Given the description of an element on the screen output the (x, y) to click on. 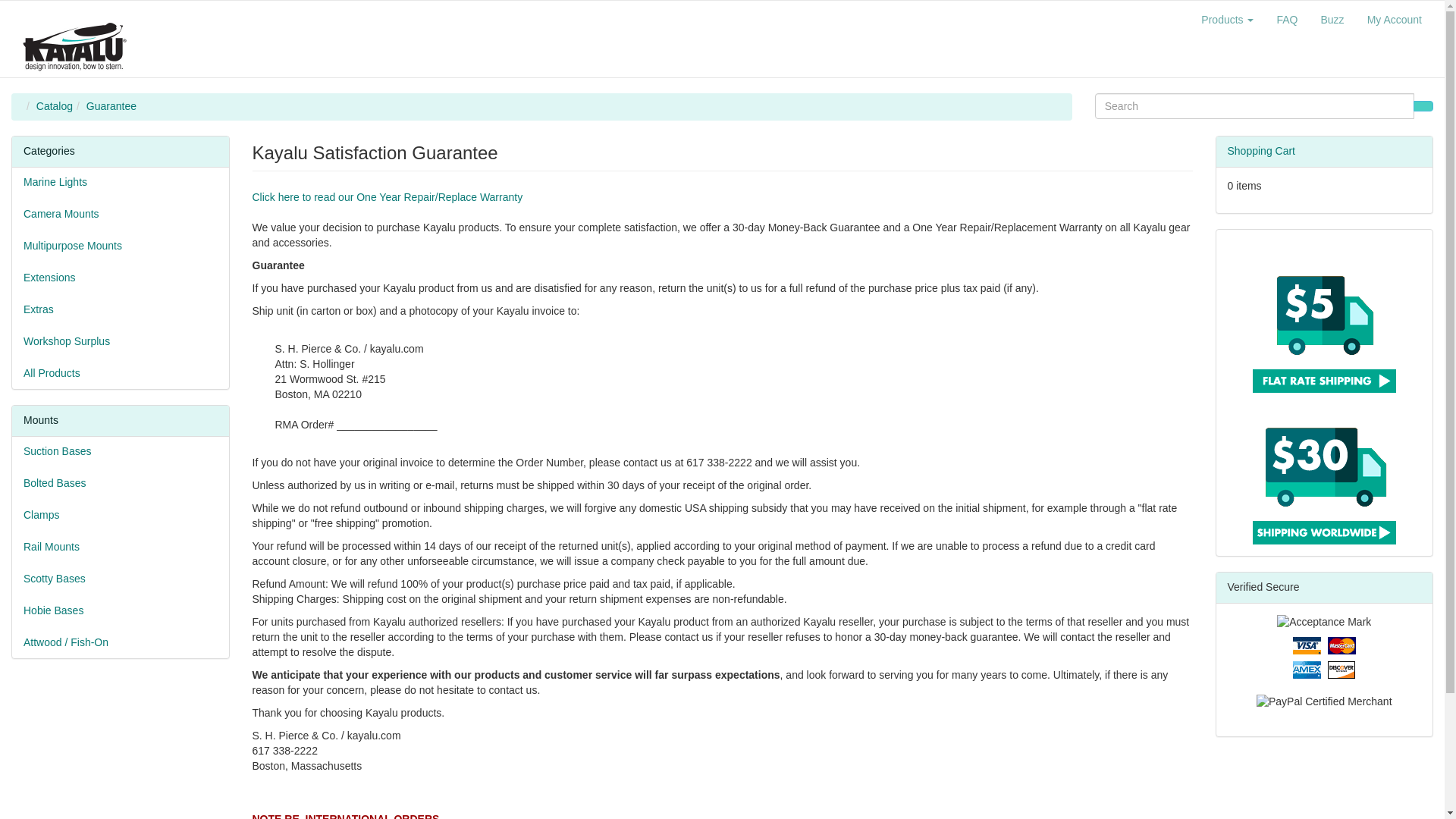
FAQ (1286, 19)
Multipurpose Mounts (119, 245)
Clamps (119, 515)
Shopping Cart (1261, 150)
Buzz (1331, 19)
Extensions (119, 277)
Scotty Bases (119, 579)
Workshop Surplus (119, 341)
Hobie Bases (119, 611)
Bolted Bases (119, 483)
Camera Mounts (119, 214)
Catalog (54, 105)
Products (1227, 19)
Guarantee (110, 105)
Marine Lights (119, 182)
